Given the description of an element on the screen output the (x, y) to click on. 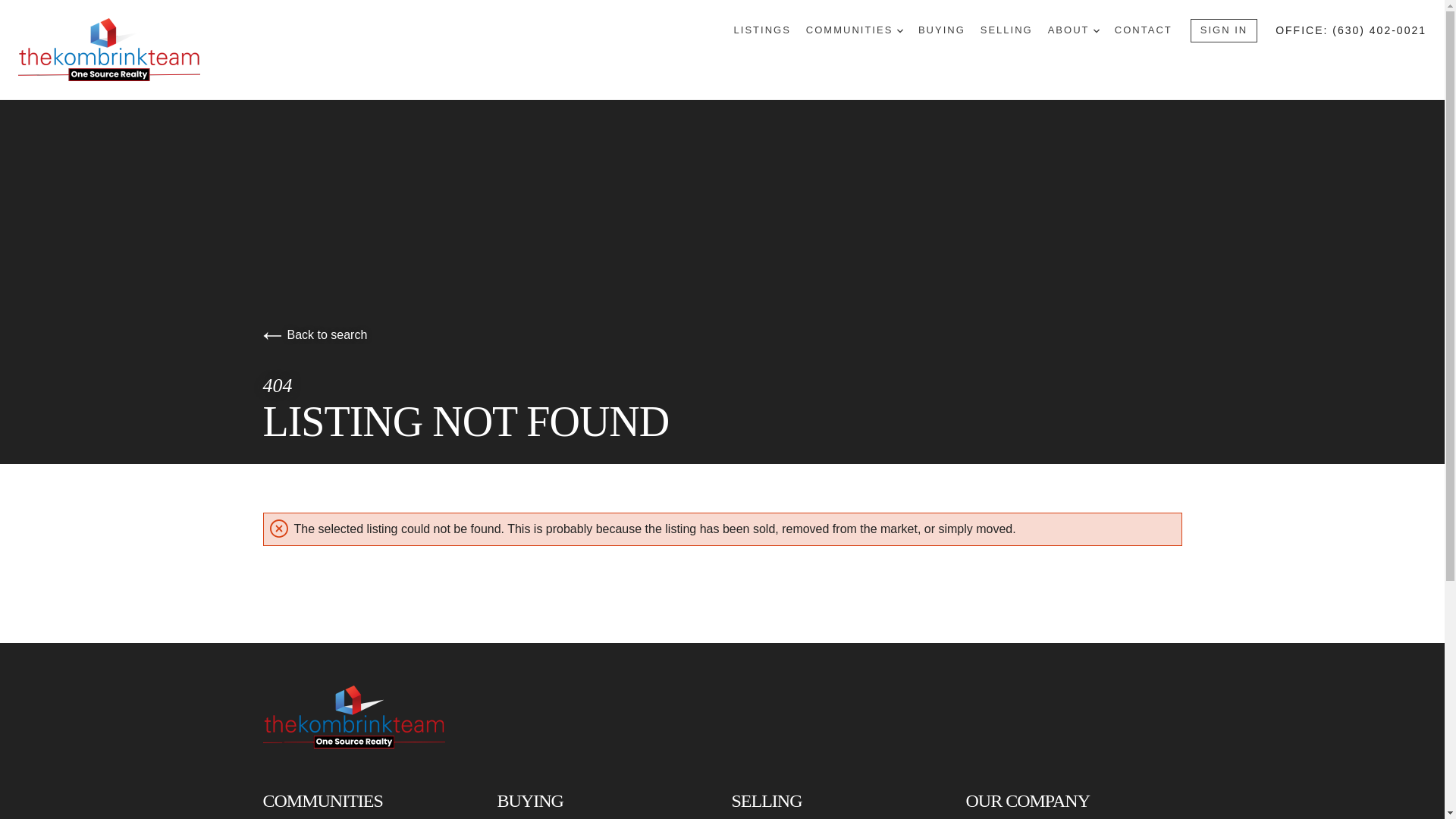
DROPDOWN ARROW (899, 30)
CONTACT (1143, 30)
SIGN IN (1224, 30)
Back to search (314, 334)
SELLING (1005, 30)
DROPDOWN ARROW (1096, 30)
COMMUNITIES DROPDOWN ARROW (854, 30)
ABOUT DROPDOWN ARROW (1073, 30)
BUYING (941, 30)
LISTINGS (761, 30)
